Given the description of an element on the screen output the (x, y) to click on. 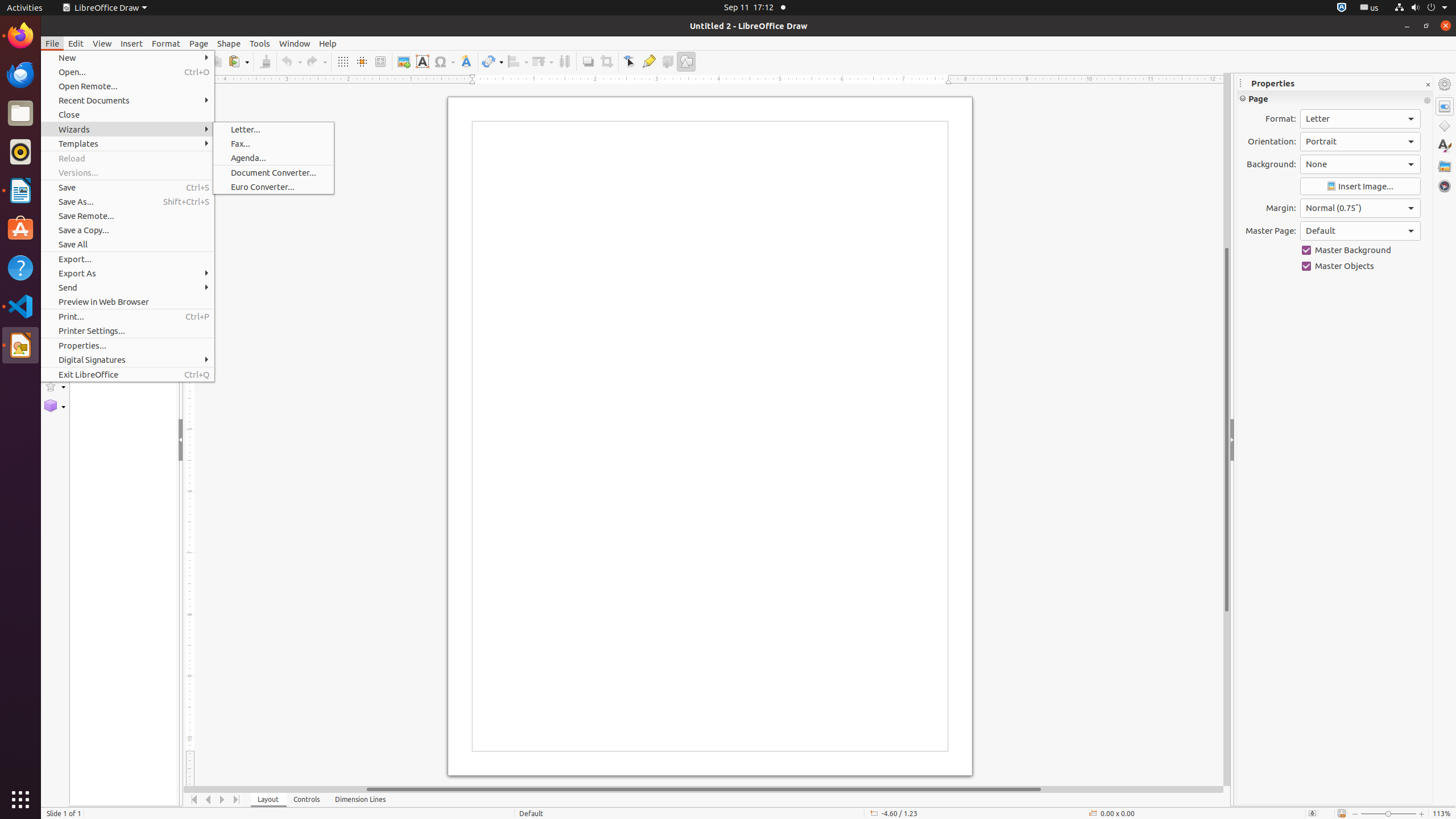
Shapes Element type: radio-button (1444, 126)
Insert Image Element type: push-button (1360, 186)
Vertical scroll bar Element type: scroll-bar (1226, 429)
Reload Element type: menu-item (127, 158)
Zoom & Pan Element type: push-button (379, 61)
